Given the description of an element on the screen output the (x, y) to click on. 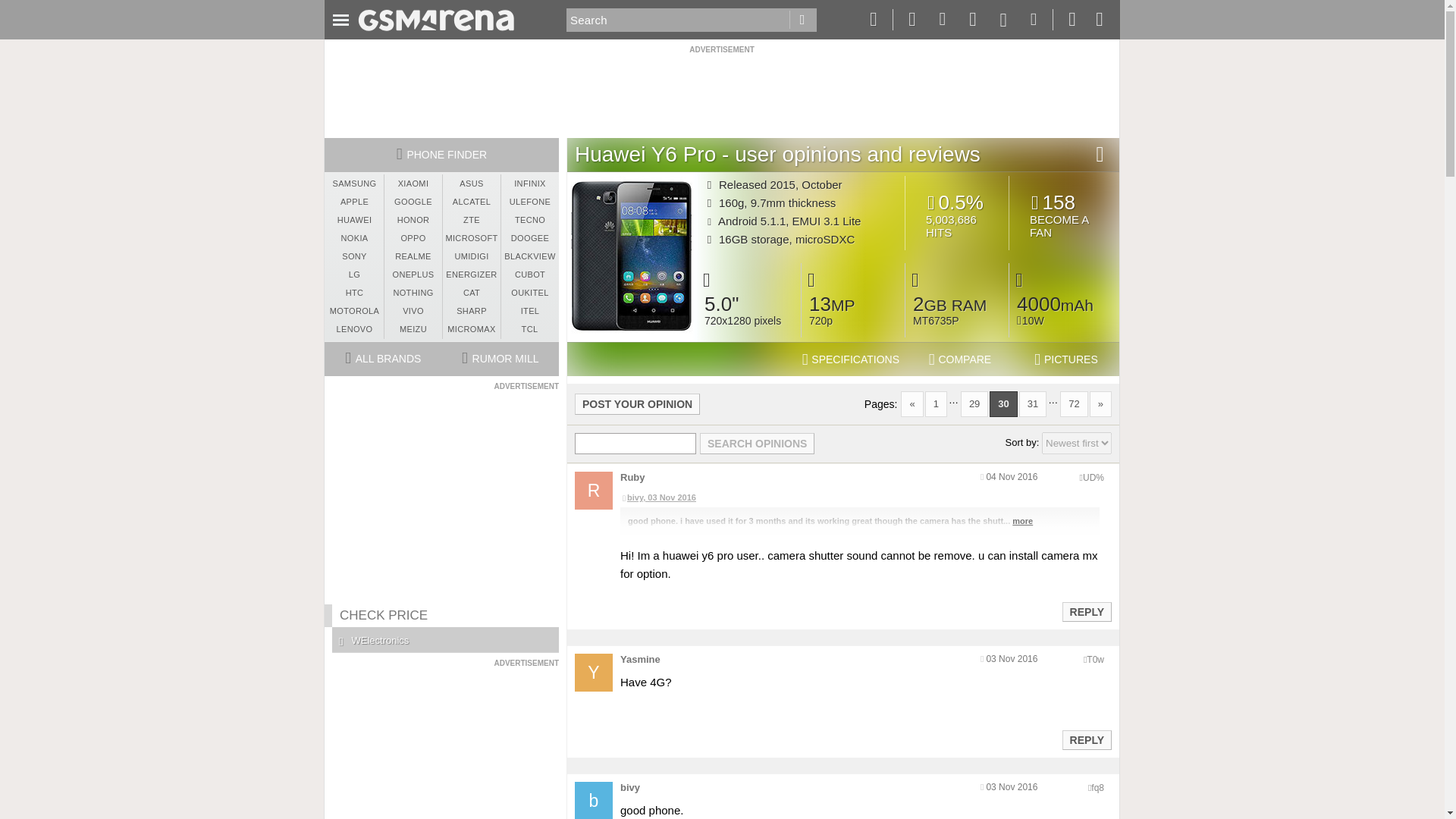
Search opinions (756, 443)
Sort comments by (1077, 443)
Go (802, 19)
COMPARE (960, 359)
SPECIFICATIONS (850, 359)
Go (802, 19)
29 (974, 403)
Encoded anonymized location (1096, 787)
Encoded anonymized location (1094, 659)
Reply to this post (1086, 739)
Huawei Y6 Pro phone specifications (850, 359)
Encoded anonymized location (1093, 477)
Reply to this post (1086, 612)
PICTURES (1066, 359)
